Given the description of an element on the screen output the (x, y) to click on. 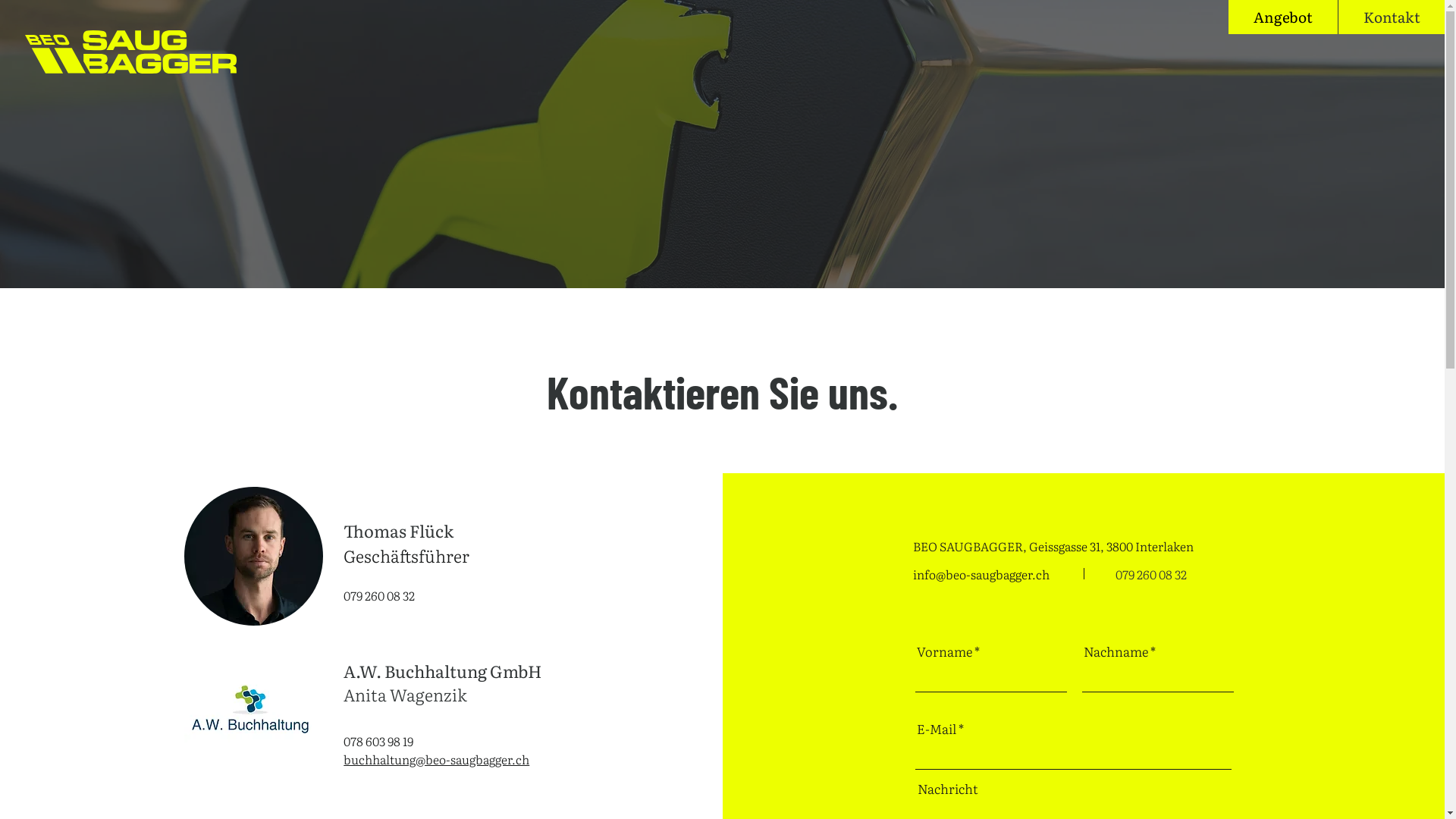
buchhaltung@beo-saugbagger.ch Element type: text (436, 758)
Kontakt Element type: text (1390, 17)
Angebot Element type: text (1282, 17)
info@beo-saugbagger.ch Element type: text (981, 573)
